Given the description of an element on the screen output the (x, y) to click on. 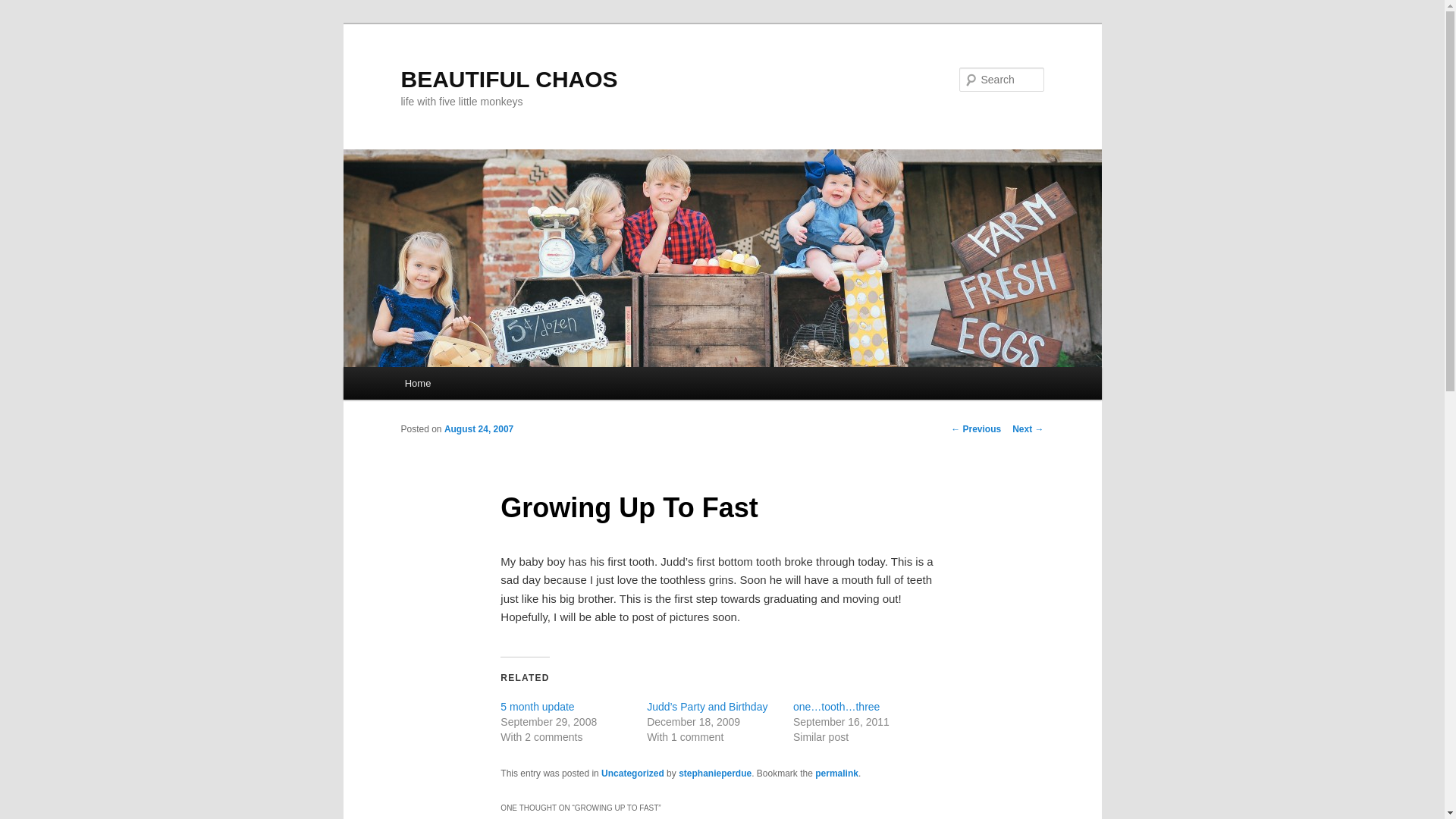
Search (24, 8)
Home (417, 382)
9:54 pm (478, 429)
August 24, 2007 (478, 429)
Uncategorized (632, 773)
5 month update (536, 706)
stephanieperdue (714, 773)
Permalink to Growing Up To Fast (837, 773)
BEAUTIFUL CHAOS (508, 78)
permalink (837, 773)
5 month update (536, 706)
